Given the description of an element on the screen output the (x, y) to click on. 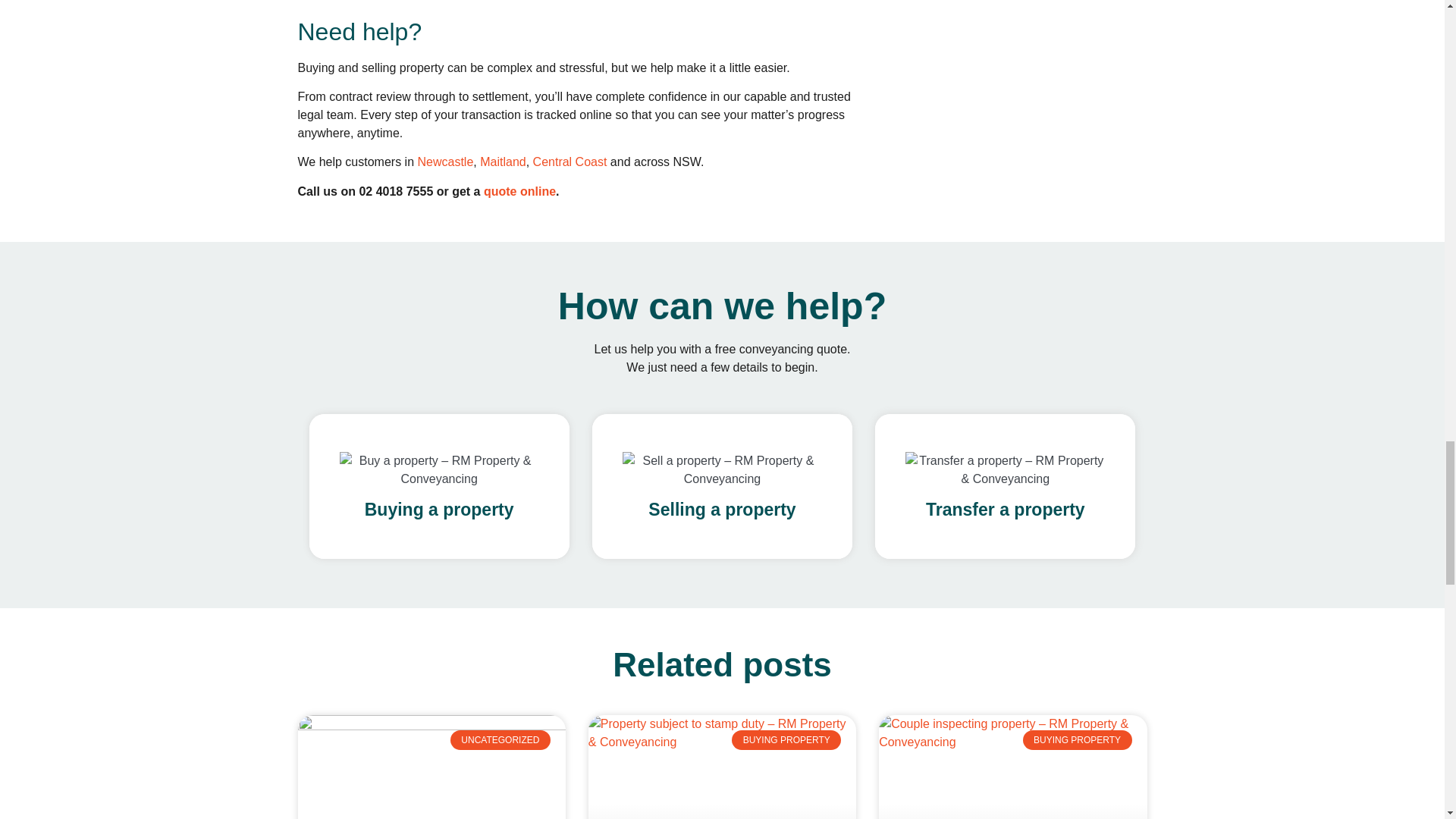
4Asset 5 (438, 470)
4Asset 7 (1005, 470)
4Asset 6 (722, 470)
